Given the description of an element on the screen output the (x, y) to click on. 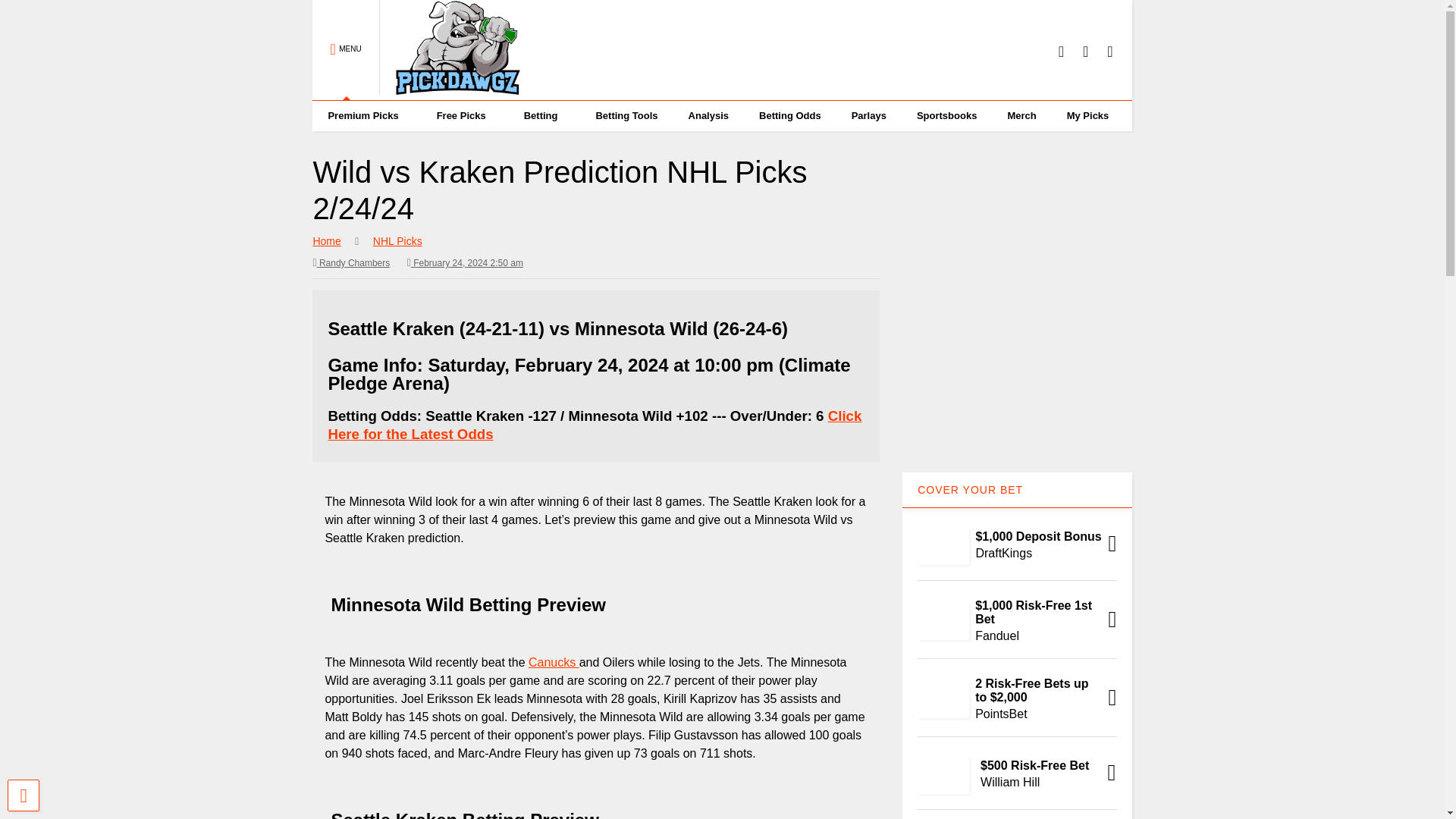
Betting (544, 115)
Betting Tools (625, 115)
MENU (345, 49)
Analysis (708, 115)
Free Picks (465, 115)
PickDawgz (449, 87)
Randy Chambers (351, 263)
2024-02-24T02:50:00-0500 (464, 263)
Premium Picks (366, 115)
